Given the description of an element on the screen output the (x, y) to click on. 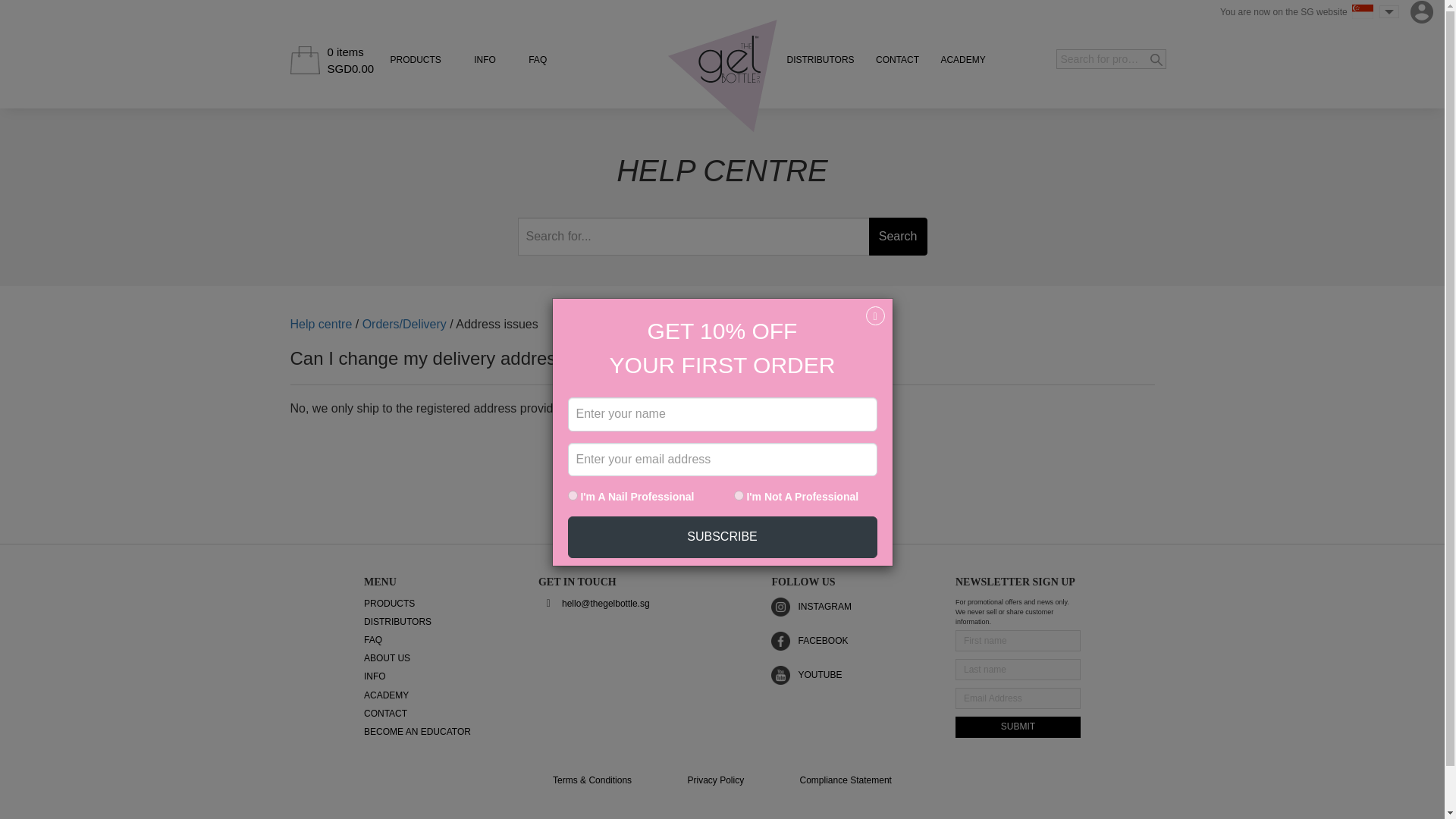
CONTACT (897, 59)
Academy (962, 59)
Contact (897, 59)
INFO (485, 59)
PRODUCTS (415, 59)
Products (415, 59)
Info (485, 59)
ACADEMY (962, 59)
THE GELBOTTLE INC (721, 75)
Distributors (820, 59)
FAQ (537, 59)
FAQ (537, 59)
no (738, 465)
yes (571, 465)
Search (898, 236)
